Given the description of an element on the screen output the (x, y) to click on. 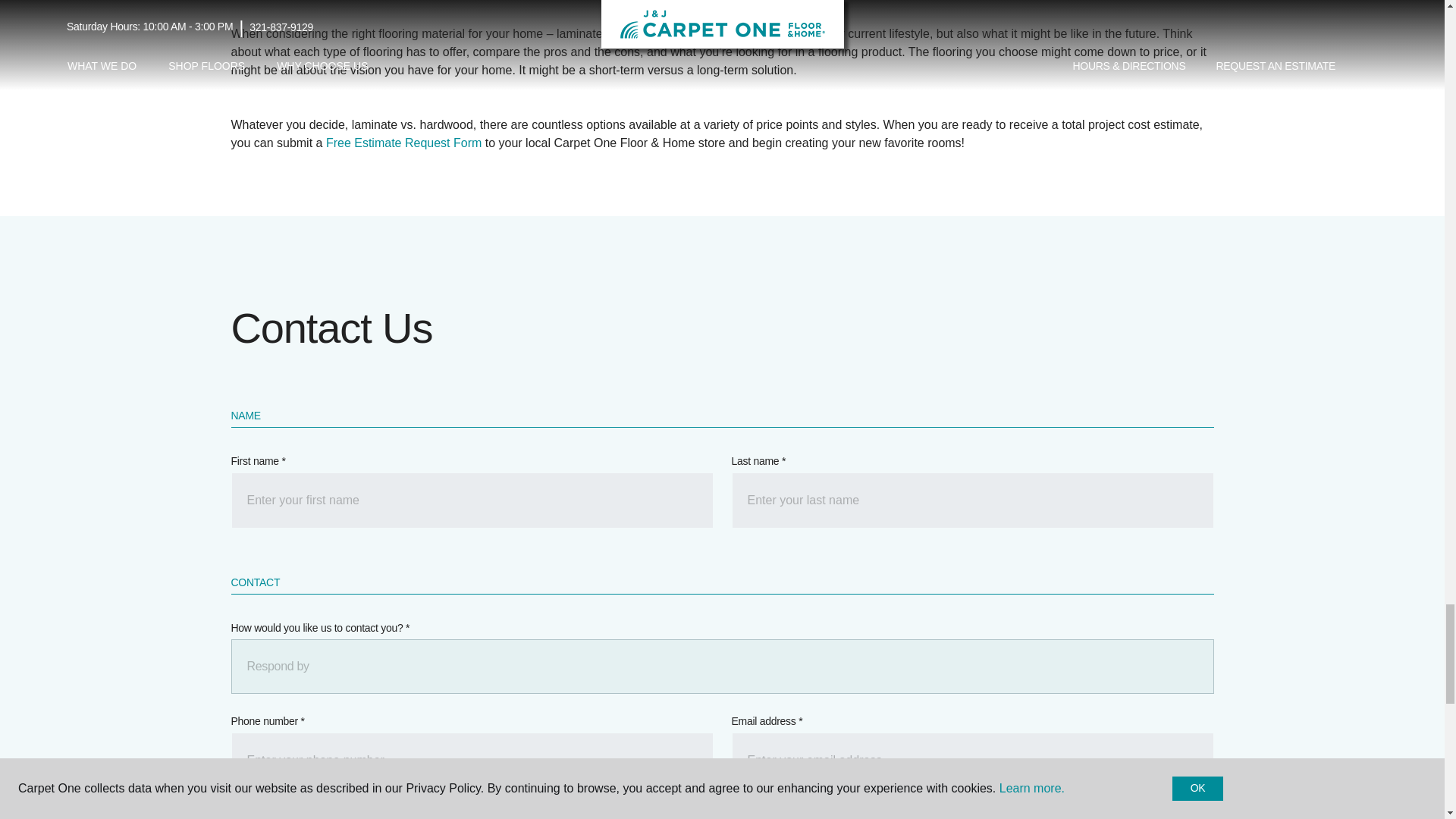
CleanHomePhone (471, 760)
FirstName (471, 500)
LastName (971, 500)
EmailAddress (971, 760)
